Given the description of an element on the screen output the (x, y) to click on. 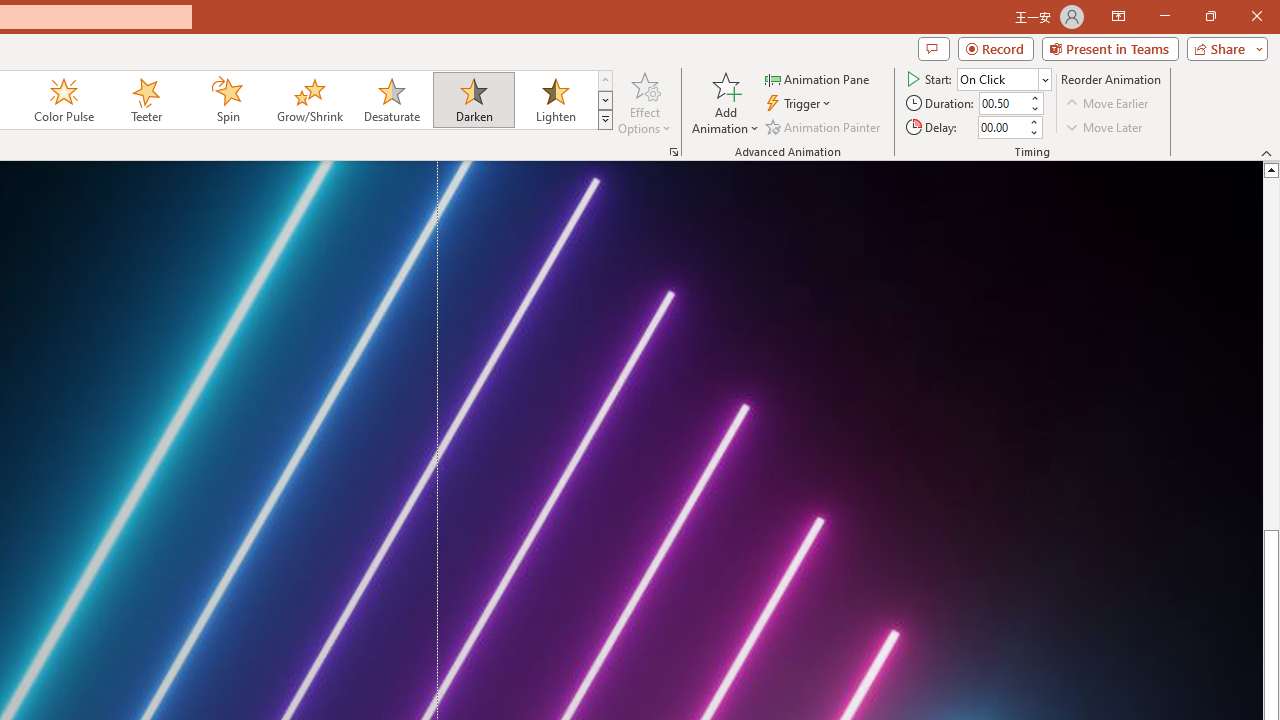
Animation Pane (818, 78)
Trigger (799, 103)
Move Later (1105, 126)
